Given the description of an element on the screen output the (x, y) to click on. 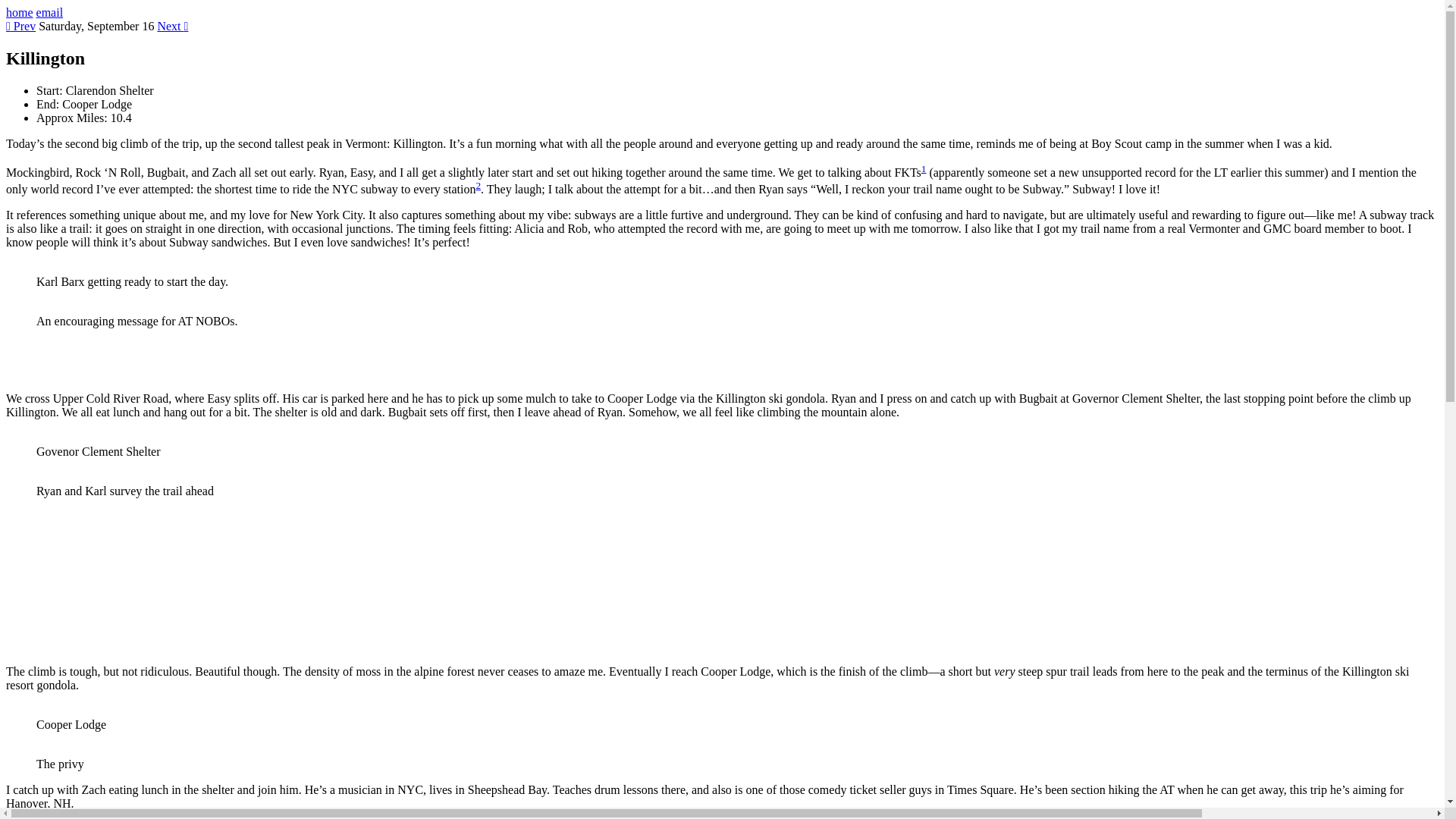
email (50, 11)
home (19, 11)
